Given the description of an element on the screen output the (x, y) to click on. 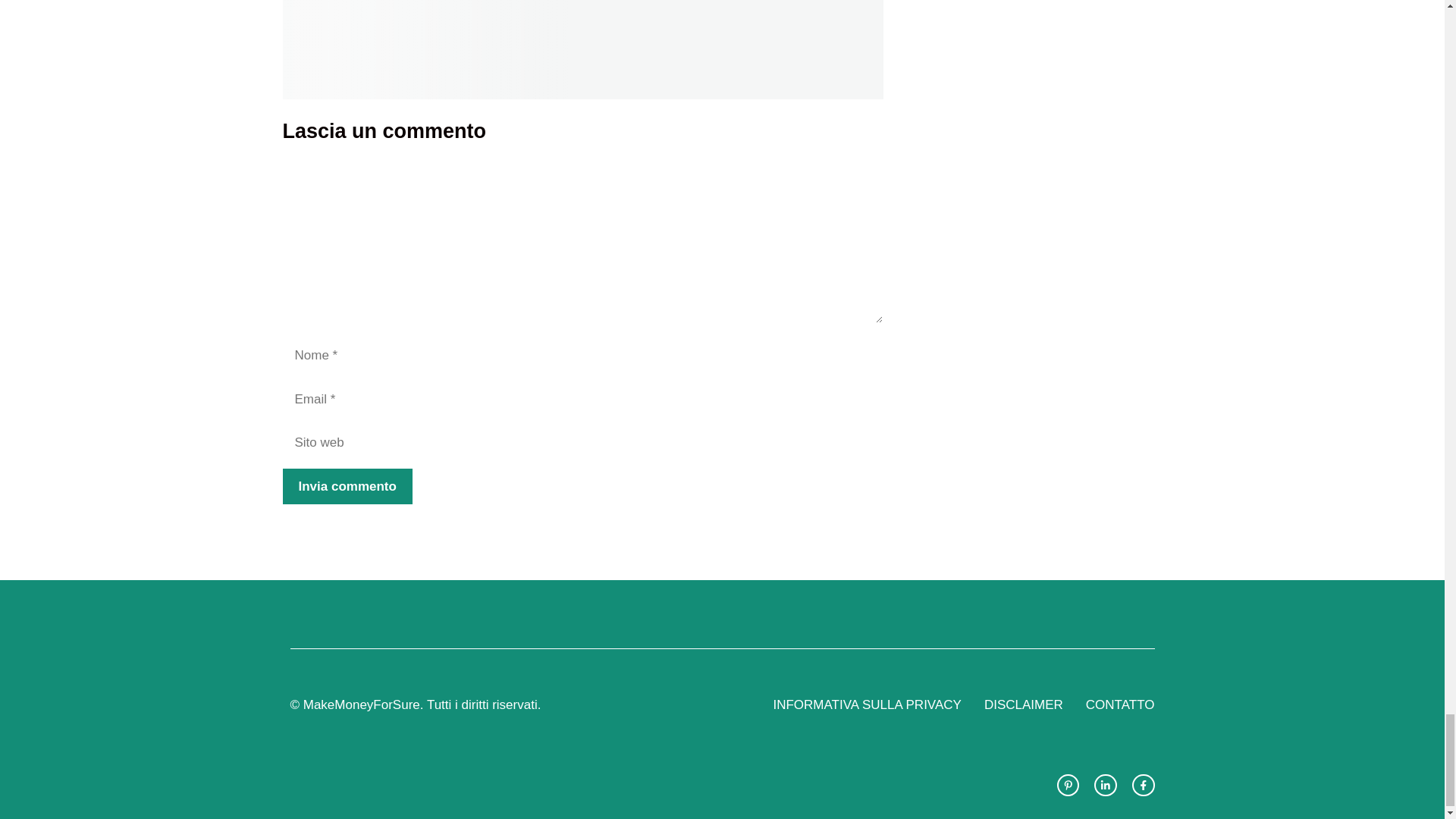
Invia commento (347, 486)
